Given the description of an element on the screen output the (x, y) to click on. 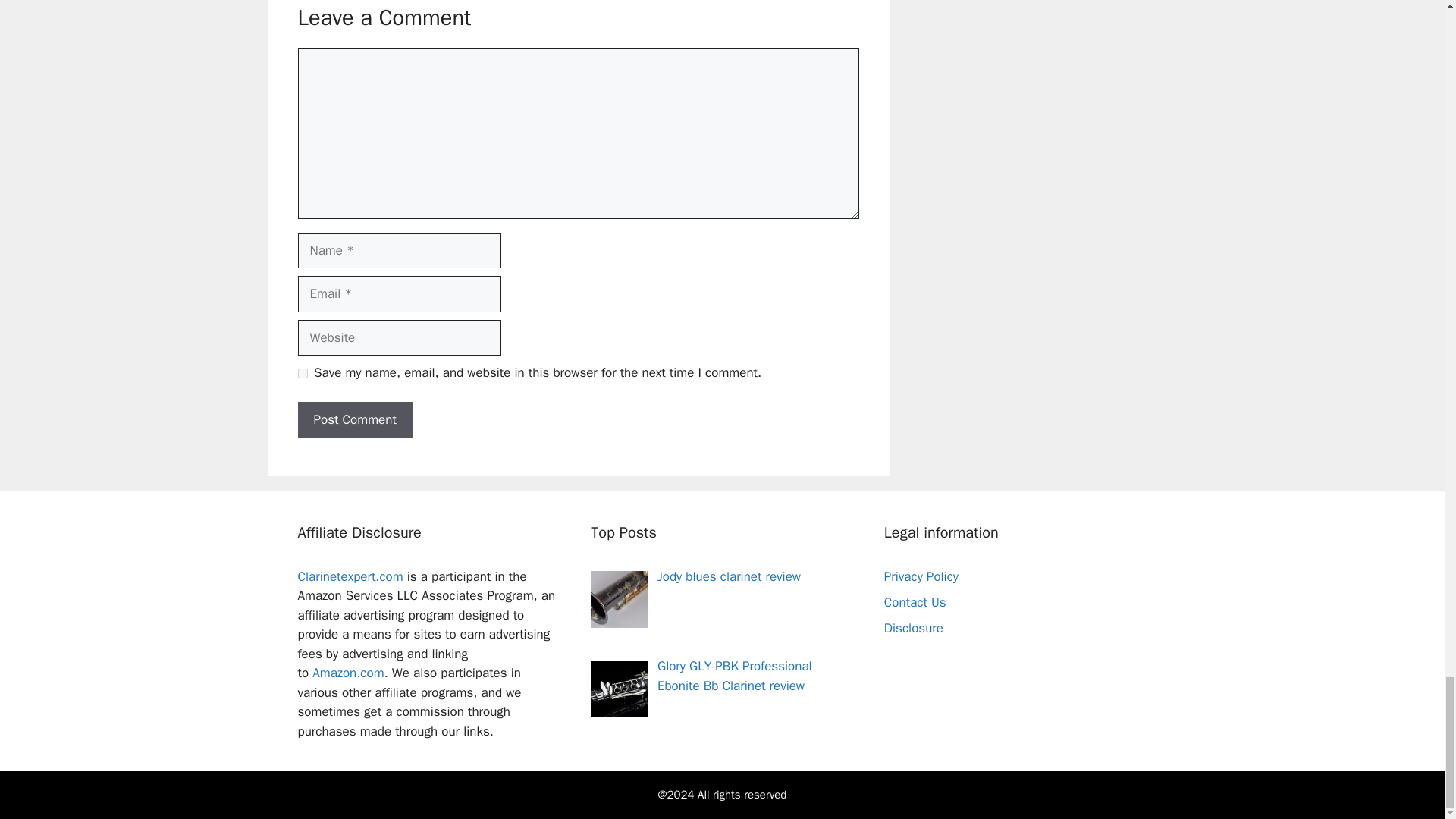
Post Comment (354, 420)
Post Comment (354, 420)
yes (302, 373)
